Given the description of an element on the screen output the (x, y) to click on. 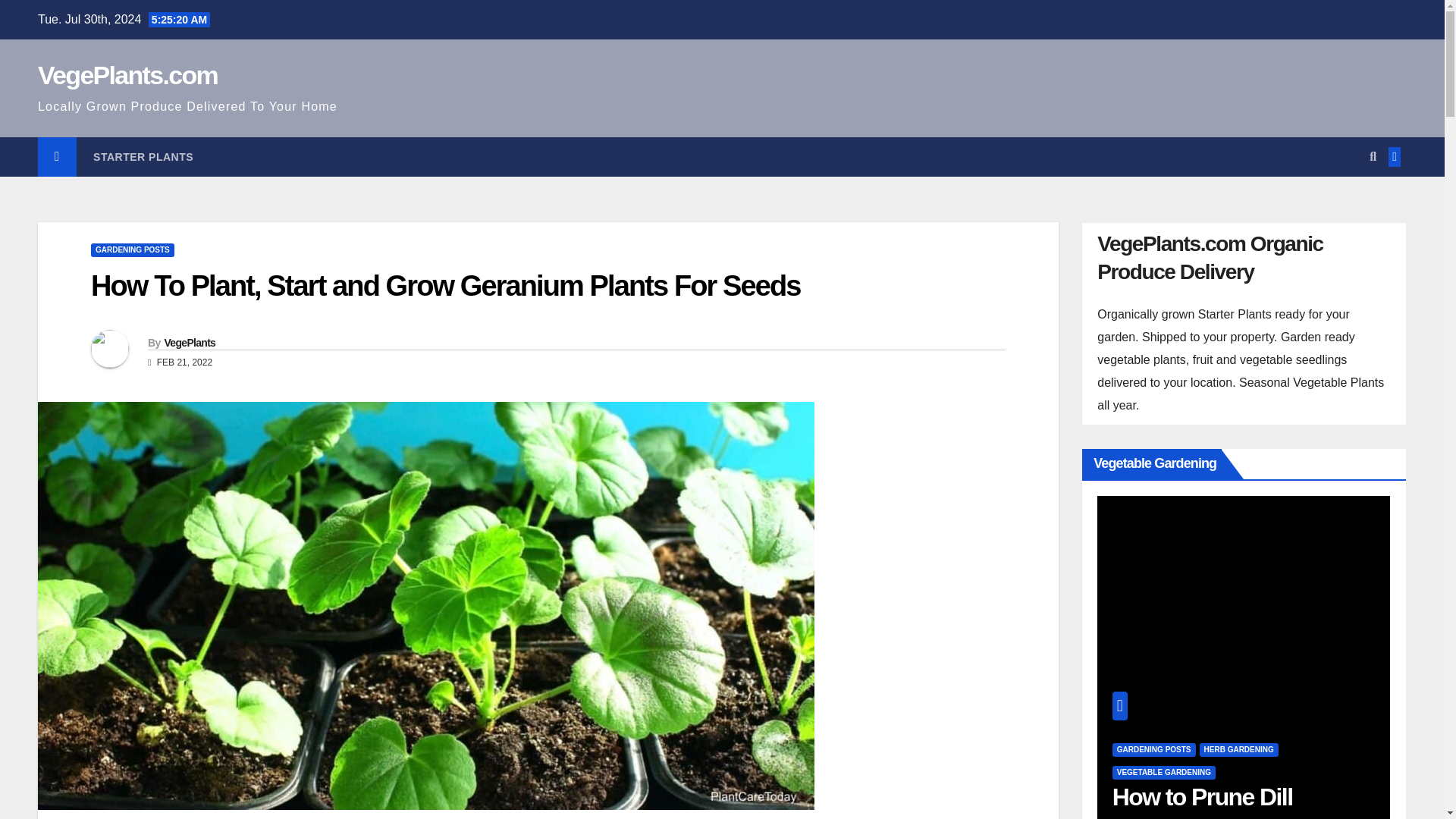
VegePlants (189, 342)
How To Plant, Start and Grow Geranium Plants For Seeds (445, 286)
STARTER PLANTS (143, 156)
VegePlants.com (126, 74)
Starter Plants (143, 156)
GARDENING POSTS (132, 250)
